Given the description of an element on the screen output the (x, y) to click on. 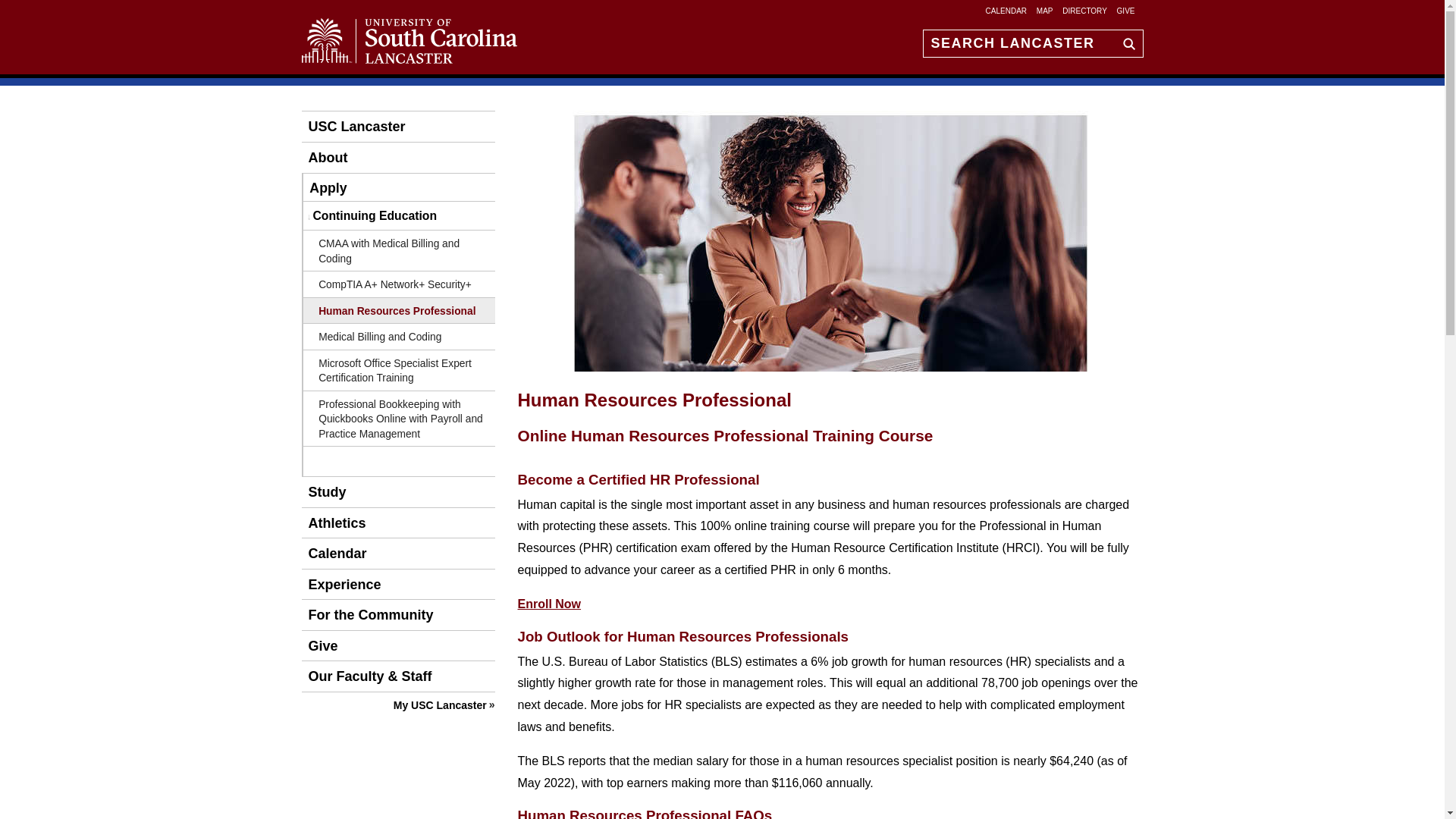
sc.edu Search (1125, 43)
GIVE (1125, 9)
Our Faculty and Staff (366, 675)
CALENDAR (1005, 9)
GO (1125, 43)
GO (1125, 43)
My Regional Test (437, 705)
USC Lancaster (353, 126)
MAP (1044, 9)
DIRECTORY (1084, 9)
